Given the description of an element on the screen output the (x, y) to click on. 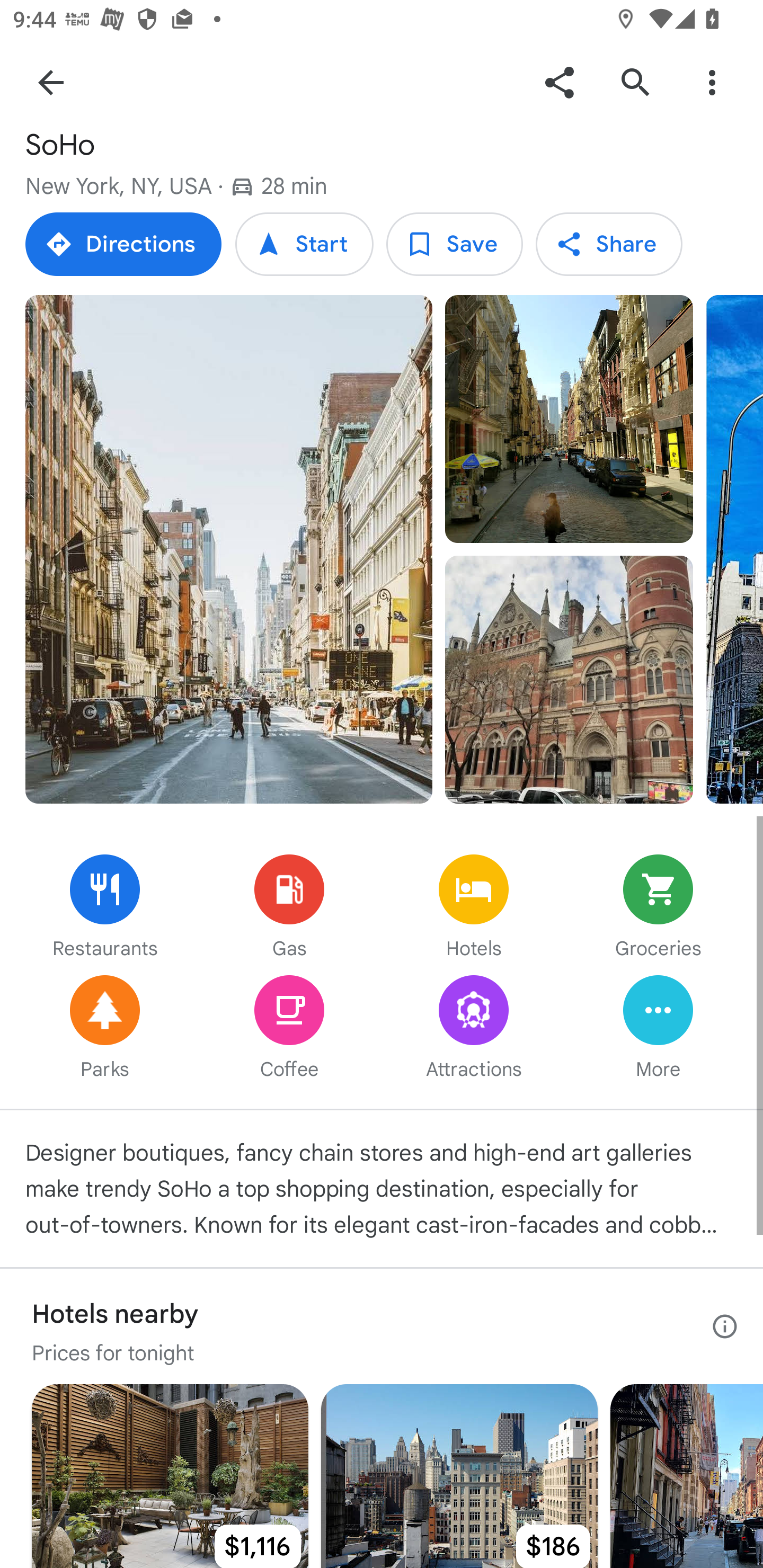
Back to Search (50, 81)
Share (559, 81)
Search (635, 81)
More options for SoHo (711, 81)
Directions to SoHo Directions Directions to SoHo (123, 243)
Start Start Start (304, 243)
Save SoHo to lists Save Save SoHo to lists (454, 243)
Share SoHo Share Share SoHo (608, 243)
Photo (228, 548)
Photo (568, 418)
Photo (734, 548)
Photo (568, 678)
Restaurants (104, 908)
Gas (288, 908)
Hotels (473, 908)
Groceries (658, 908)
Parks (104, 1029)
Coffee (288, 1029)
Attractions (473, 1029)
More (658, 1029)
About hotel pricing (724, 1326)
$1,116 (170, 1476)
$186 (459, 1476)
